Given the description of an element on the screen output the (x, y) to click on. 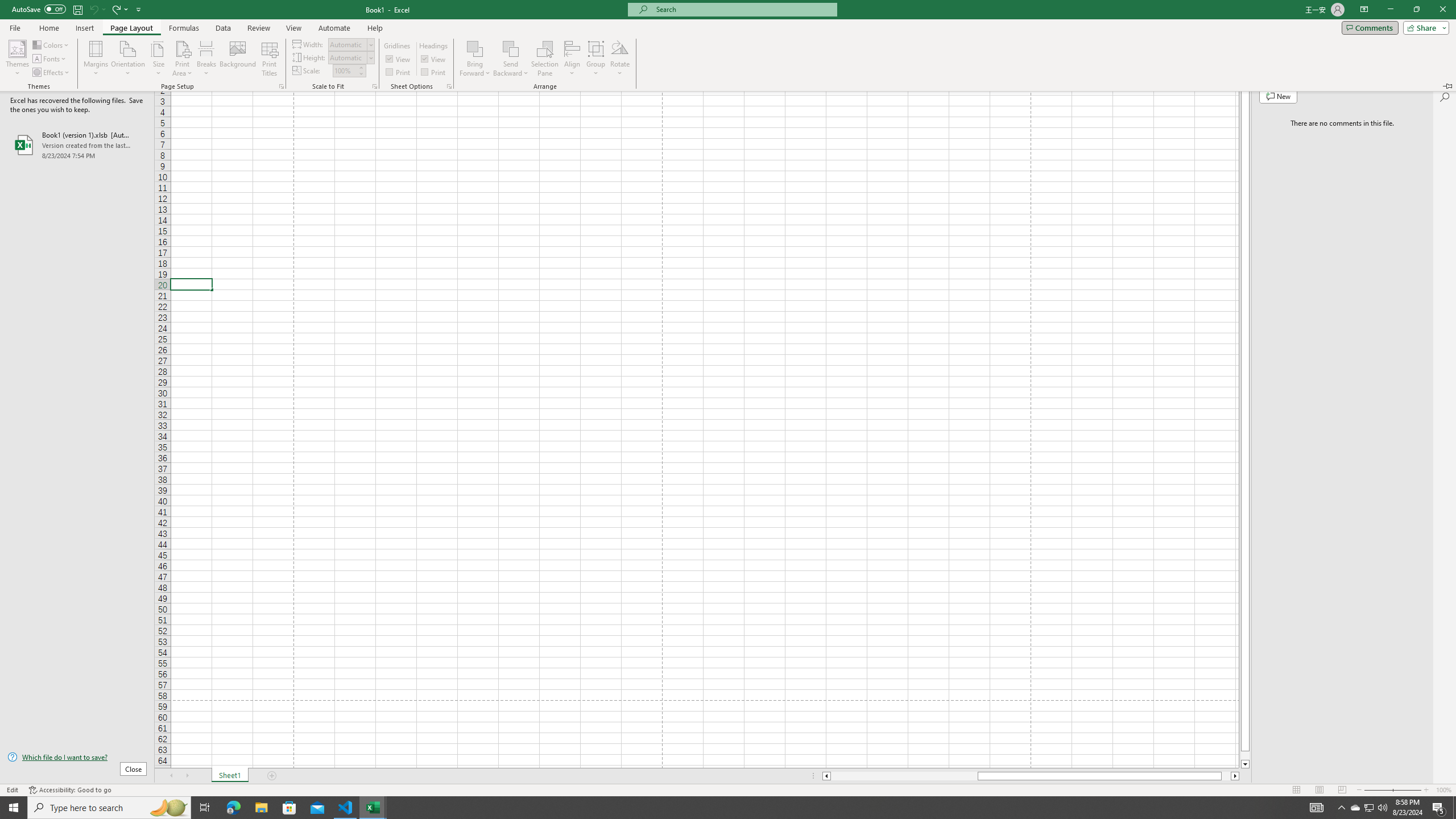
Search highlights icon opens search home window (1355, 807)
Which file do I want to save? (167, 807)
Microsoft Store (77, 757)
